Given the description of an element on the screen output the (x, y) to click on. 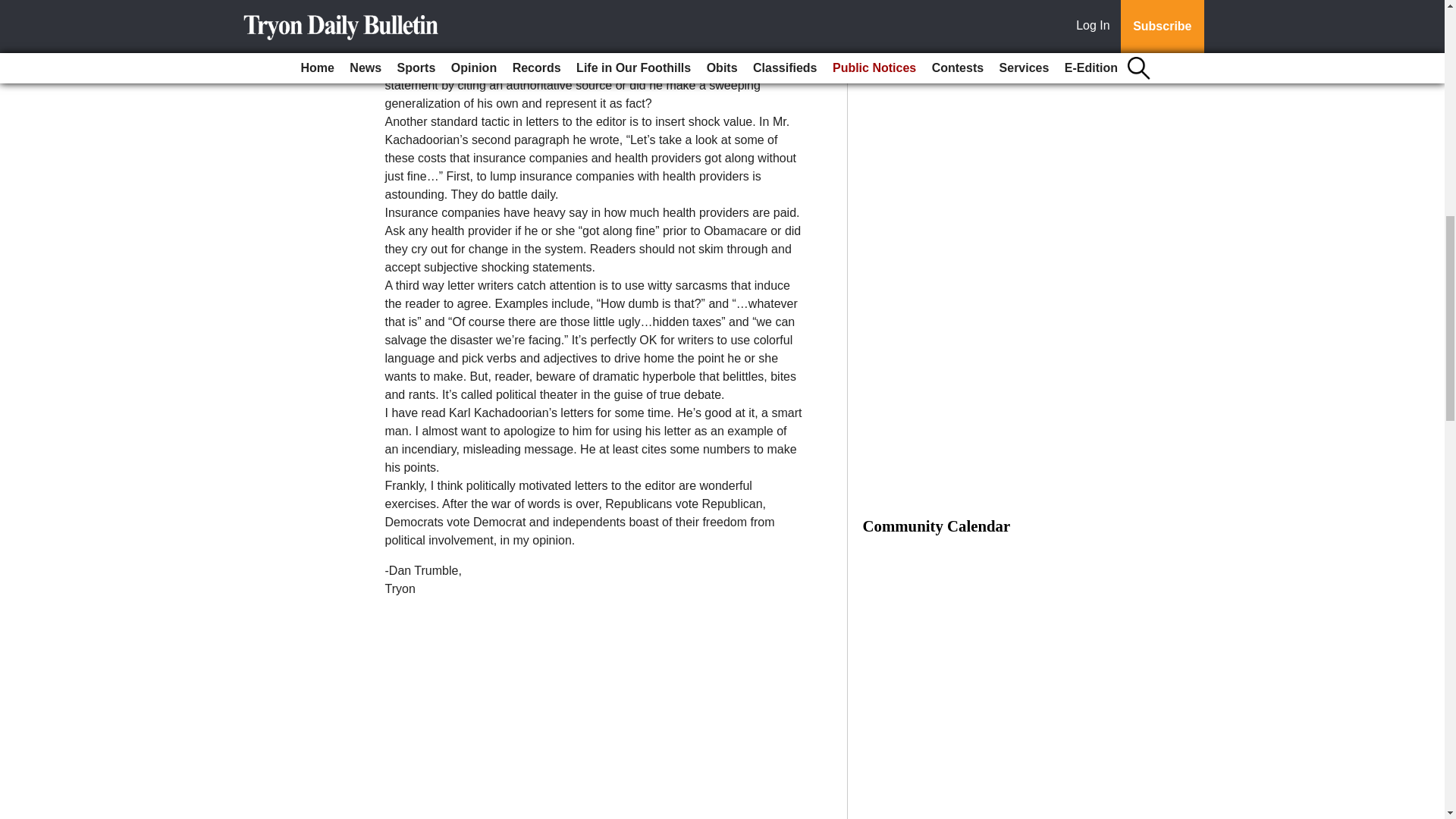
   Vote    (975, 12)
View Results Of This Poll (975, 44)
